Given the description of an element on the screen output the (x, y) to click on. 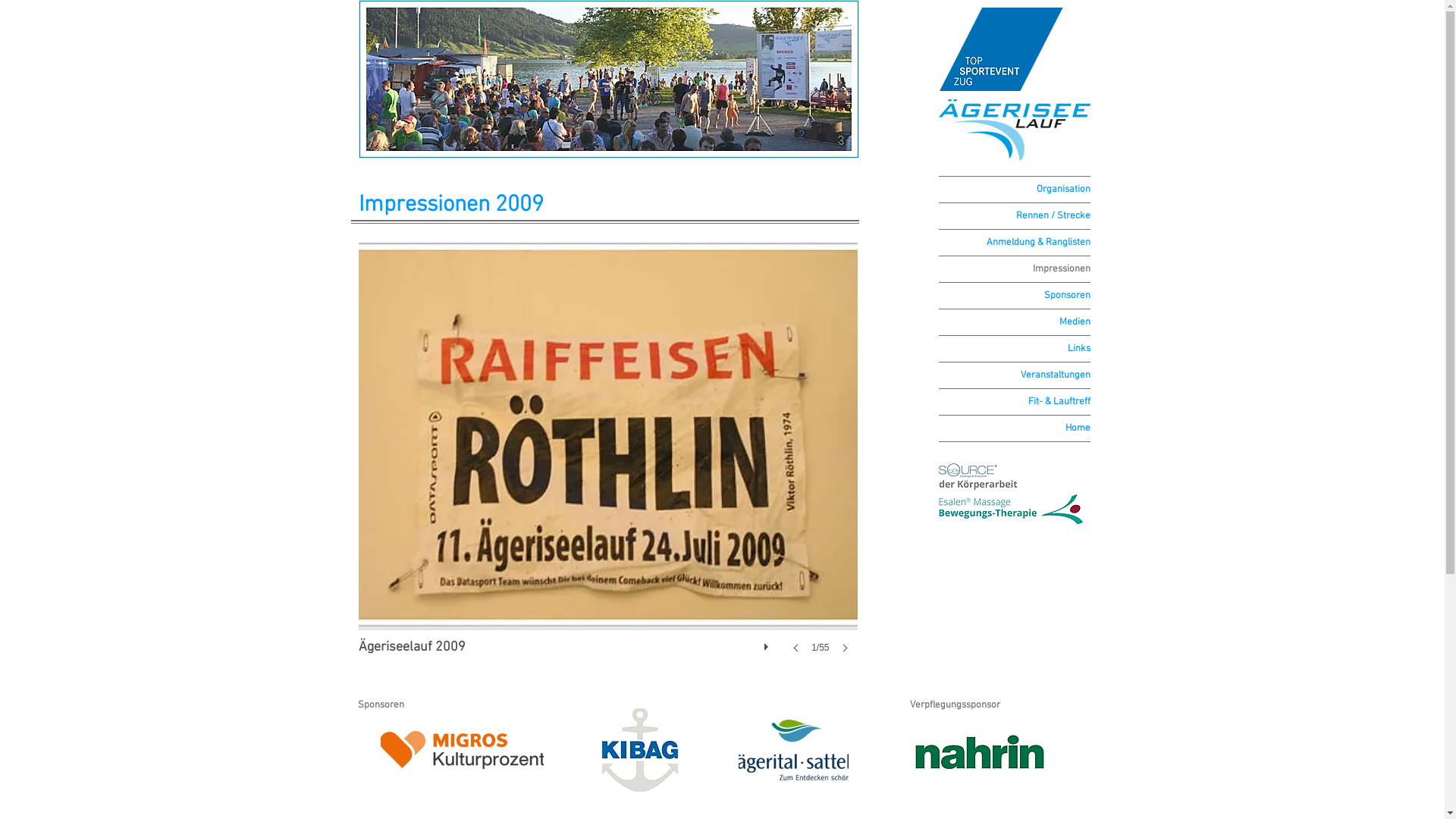
Titelbild1.jpg Element type: hover (598, 79)
Sponsoren Element type: text (1014, 295)
Medien Element type: text (1014, 322)
Organisation Element type: text (1014, 189)
06Titelbild_Impressionen.jpg Element type: hover (607, 79)
Links Element type: text (1014, 348)
Nahrin_d.png Element type: hover (978, 751)
Fit- & Lauftreff Element type: text (1014, 401)
Veranstaltungen Element type: text (1014, 375)
Rennen / Strecke Element type: text (1014, 216)
Impressionen Element type: text (1014, 269)
Anmeldung & Ranglisten Element type: text (1014, 242)
Home Element type: text (1014, 428)
Migros.png Element type: hover (461, 749)
